Given the description of an element on the screen output the (x, y) to click on. 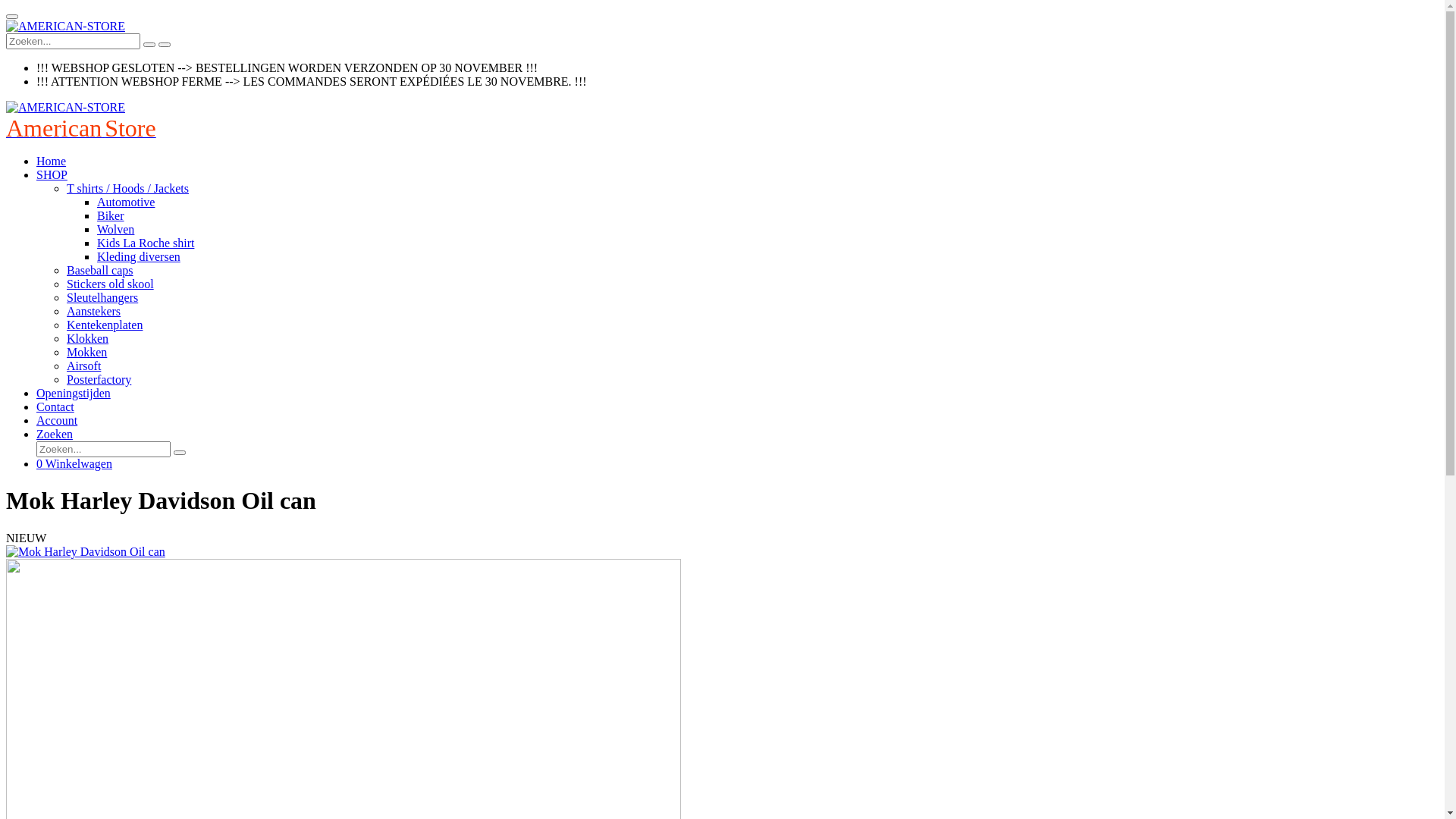
Kids La Roche shirt Element type: text (145, 242)
Home Element type: text (50, 160)
Kleding diversen Element type: text (138, 256)
0 Winkelwagen Element type: text (74, 463)
Baseball caps Element type: text (99, 269)
Stickers old skool Element type: text (109, 283)
Account Element type: text (56, 420)
SHOP Element type: text (51, 174)
Wolven Element type: text (115, 228)
AMERICAN-STORE Element type: hover (65, 26)
Sleutelhangers Element type: text (102, 297)
Automotive Element type: text (125, 201)
AMERICAN-STORE Element type: hover (65, 107)
Airsoft Element type: text (83, 365)
American Store Element type: text (81, 131)
Aanstekers Element type: text (93, 310)
T shirts / Hoods / Jackets Element type: text (127, 188)
Biker Element type: text (110, 215)
Openingstijden Element type: text (73, 392)
Zoeken Element type: text (54, 433)
Klokken Element type: text (87, 338)
Mokken Element type: text (86, 351)
Contact Element type: text (55, 406)
Kentekenplaten Element type: text (104, 324)
Posterfactory Element type: text (98, 379)
